Given the description of an element on the screen output the (x, y) to click on. 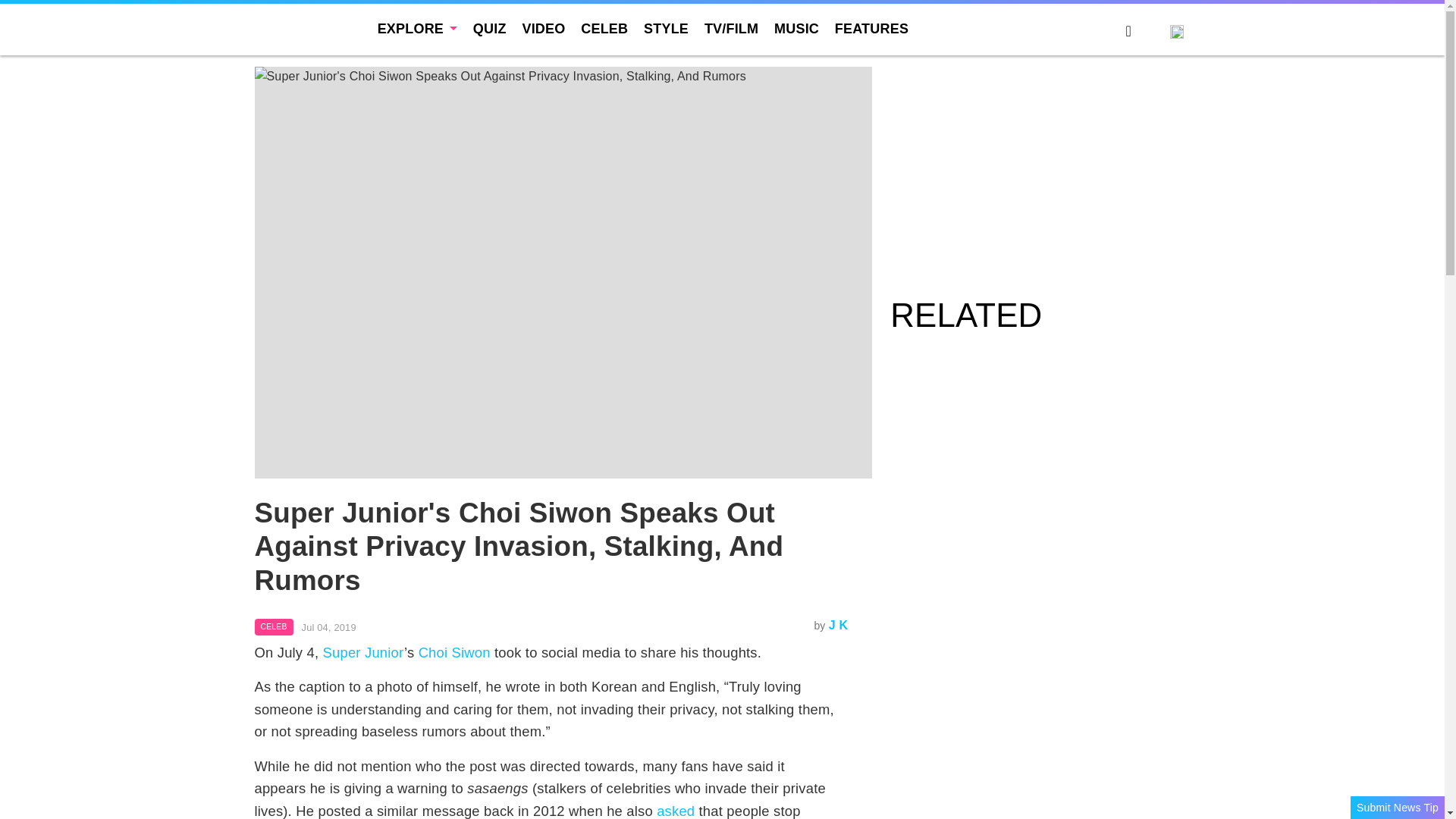
CELEB (274, 627)
Super Junior (363, 652)
EXPLORE (417, 28)
STYLE (665, 28)
J K (838, 625)
Celeb (274, 627)
FEATURES (871, 28)
Choi Siwon (454, 652)
Articles by J K (838, 625)
QUIZ (489, 28)
